Given the description of an element on the screen output the (x, y) to click on. 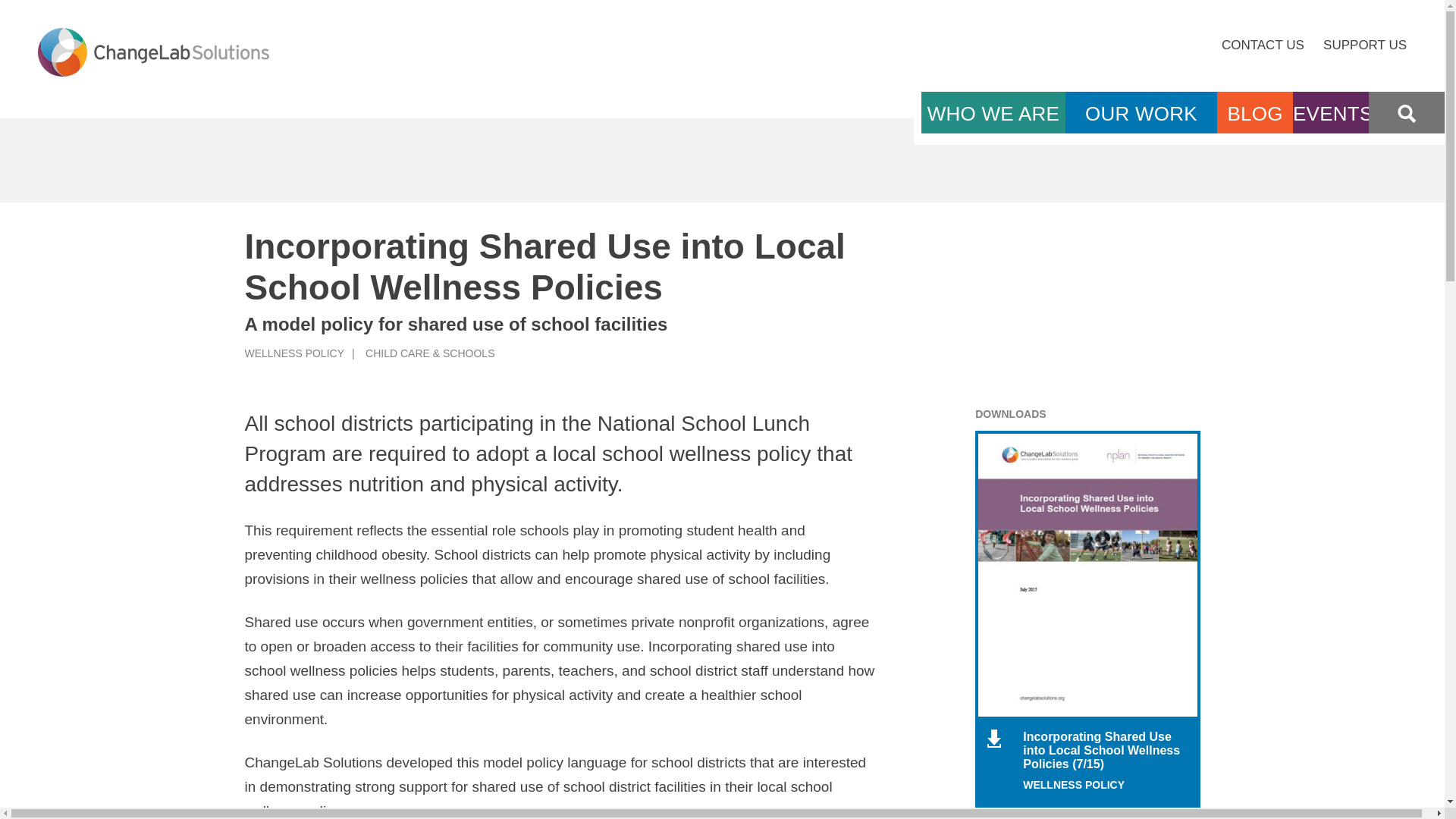
Search (1406, 113)
SEARCH (1406, 113)
OUR WORK (1141, 113)
SUPPORT US (1364, 44)
Join and access resources (727, 524)
Events (1330, 113)
CONTACT US (1262, 44)
EVENTS (1330, 113)
BLOG (1254, 113)
Blog (1254, 113)
Who We Are (993, 113)
WHO WE ARE (993, 113)
Our Work (1141, 113)
Continue to resources (727, 430)
